Given the description of an element on the screen output the (x, y) to click on. 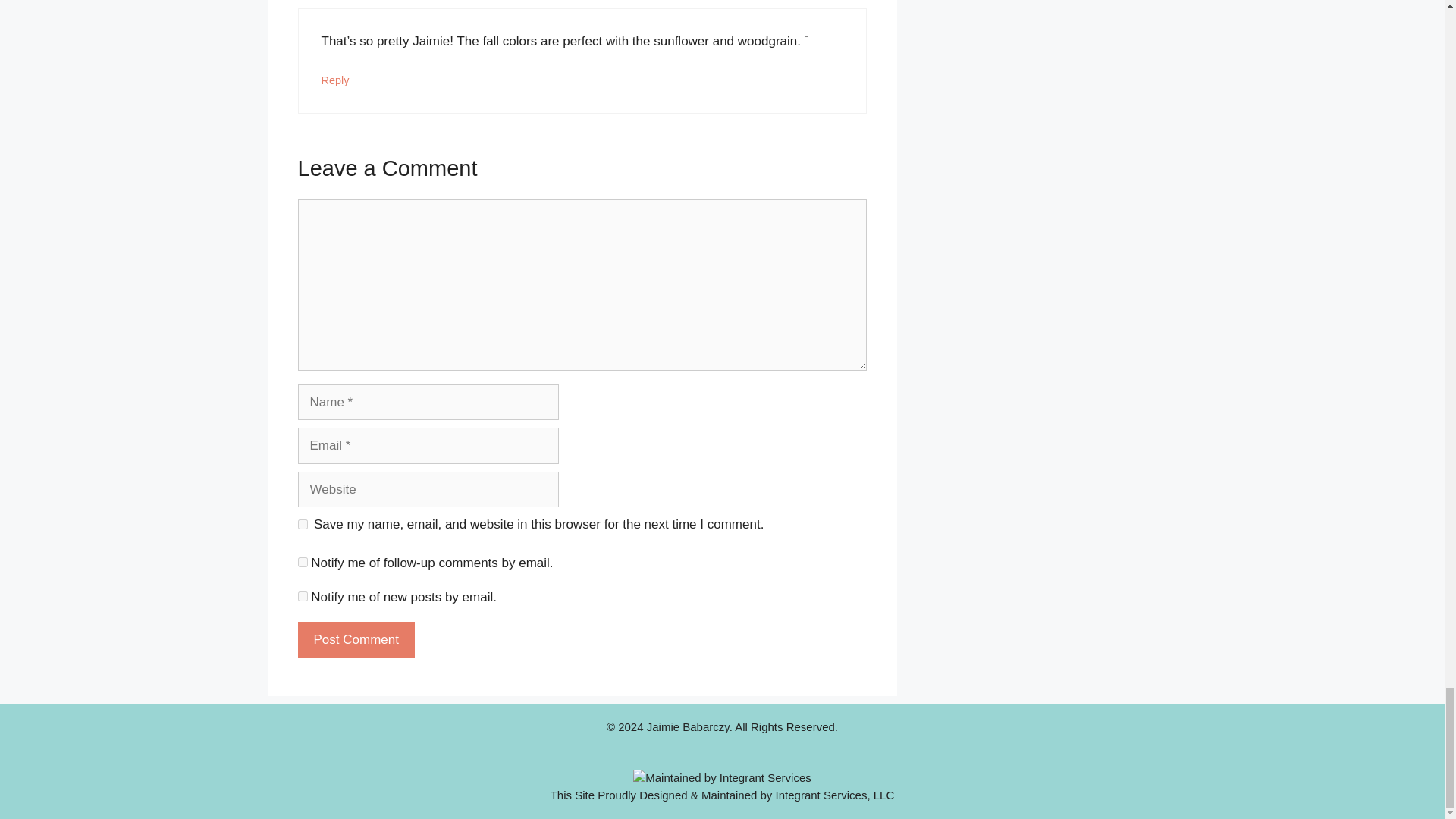
yes (302, 524)
subscribe (302, 596)
subscribe (302, 562)
Post Comment (355, 639)
